Given the description of an element on the screen output the (x, y) to click on. 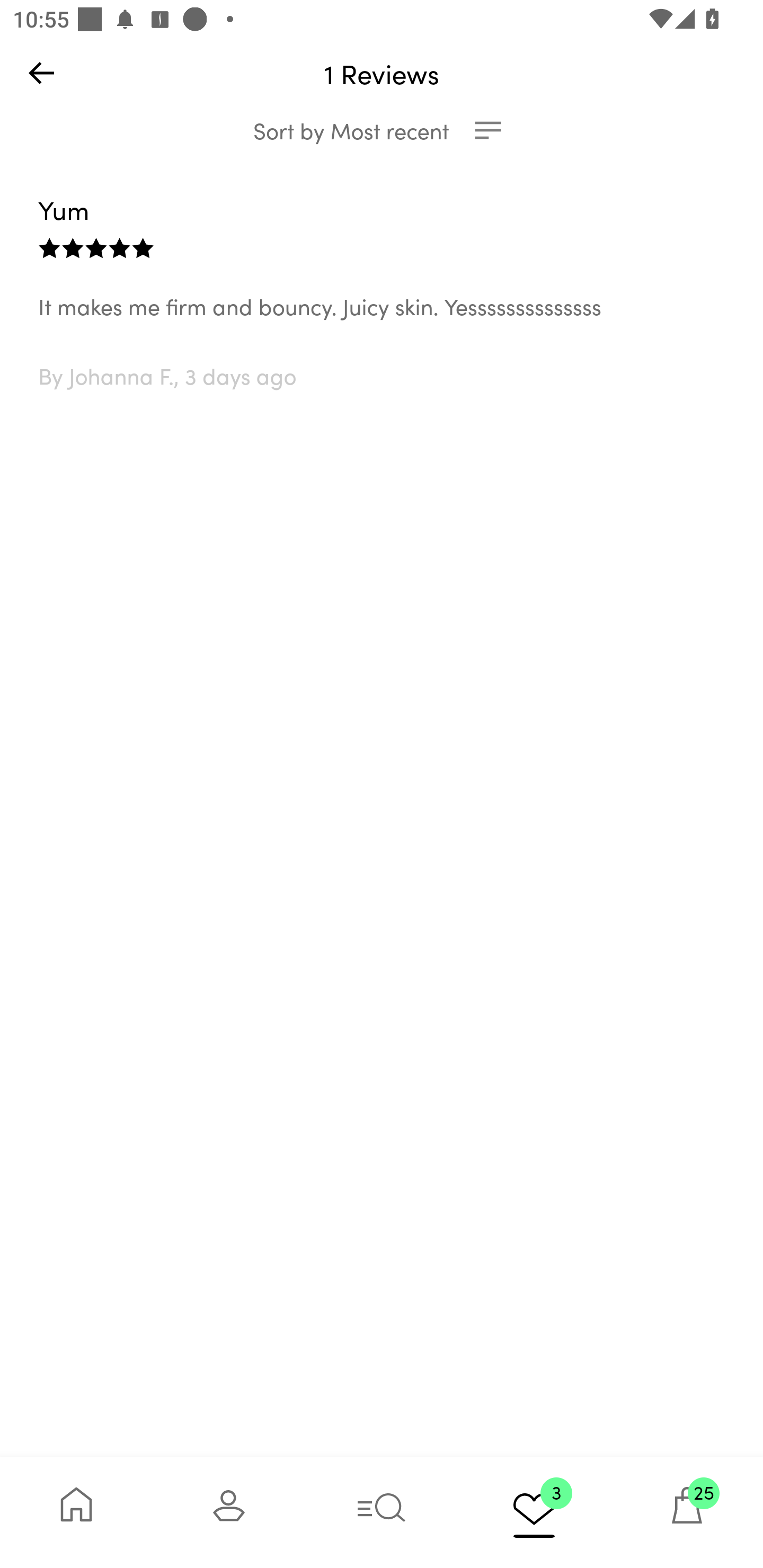
Sort by Most recent (381, 130)
3 (533, 1512)
25 (686, 1512)
